Given the description of an element on the screen output the (x, y) to click on. 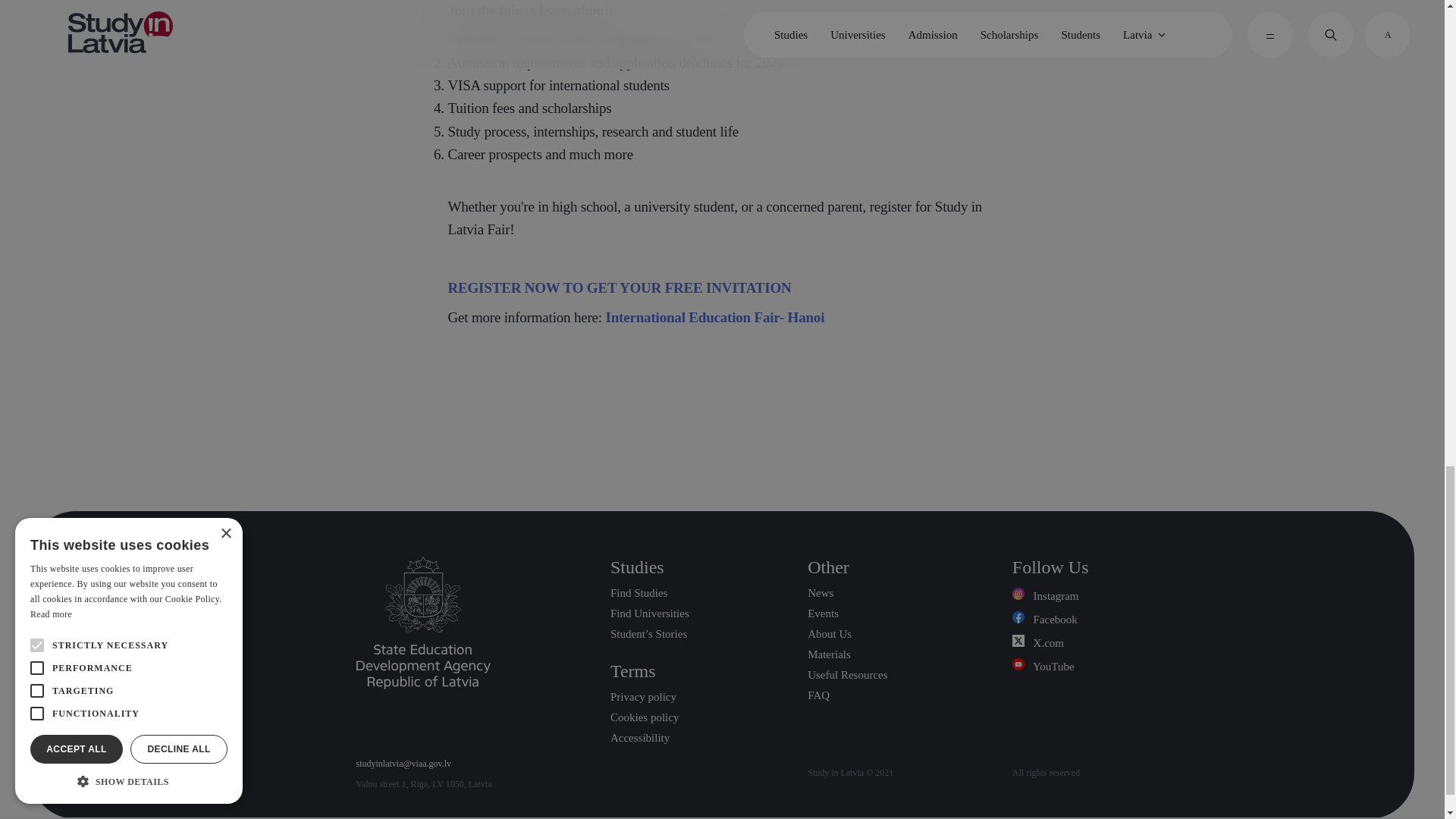
International Education Fair- Hanoi (715, 317)
REGISTER NOW TO GET YOUR FREE INVITATION (618, 287)
